Given the description of an element on the screen output the (x, y) to click on. 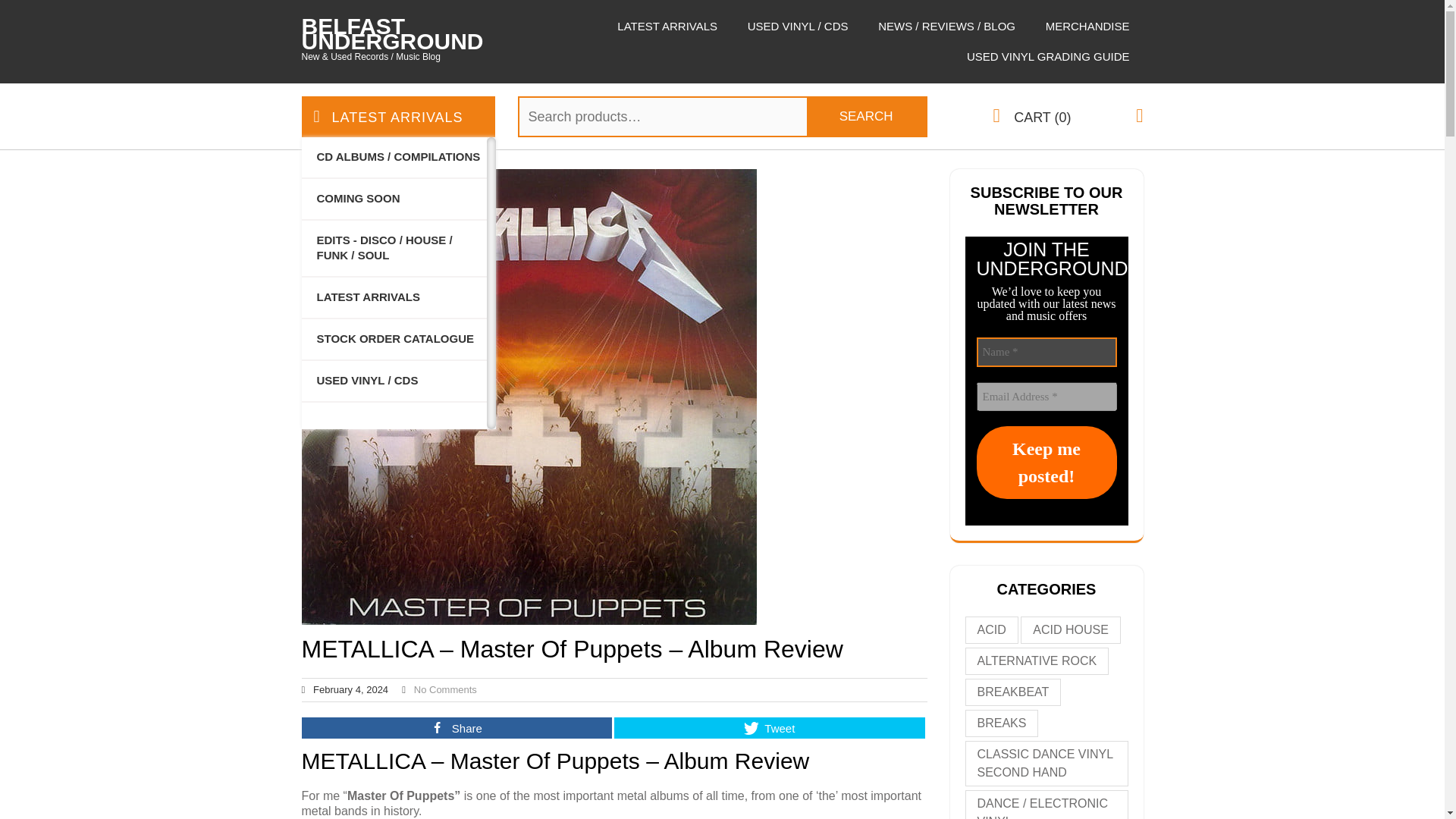
Tweet (769, 727)
BELFAST UNDERGROUND (392, 33)
USED VINYL GRADING GUIDE (1047, 56)
SEARCH (866, 116)
STOCK ORDER CATALOGUE (387, 337)
COMING SOON (350, 198)
LATEST ARRIVALS (667, 26)
LATEST ARRIVALS (398, 115)
No Comments (445, 689)
LATEST ARRIVALS (360, 296)
MERCHANDISE (1087, 26)
Share (456, 727)
Keep me posted! (1046, 461)
